Given the description of an element on the screen output the (x, y) to click on. 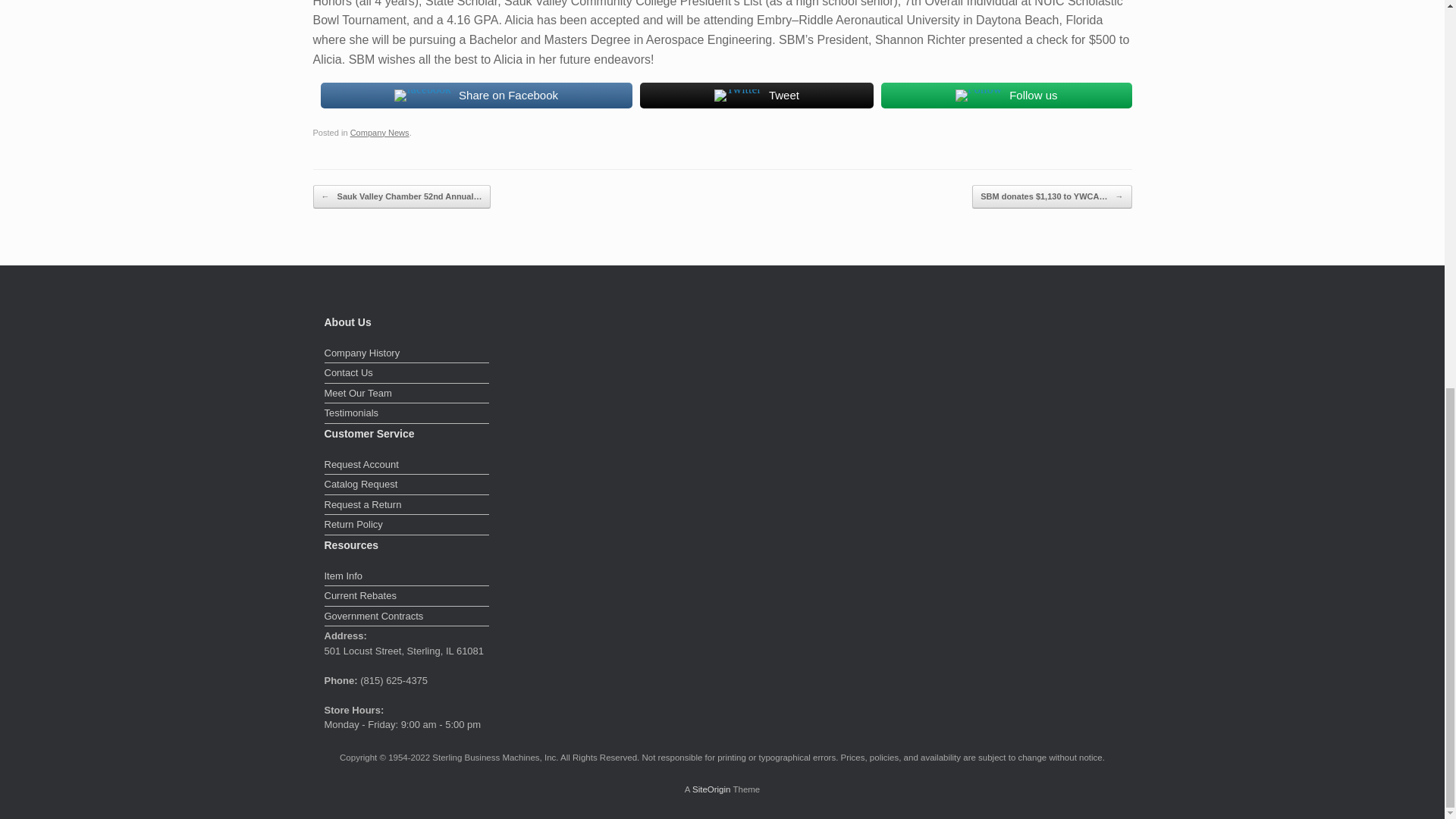
Share on Facebook (475, 95)
